Given the description of an element on the screen output the (x, y) to click on. 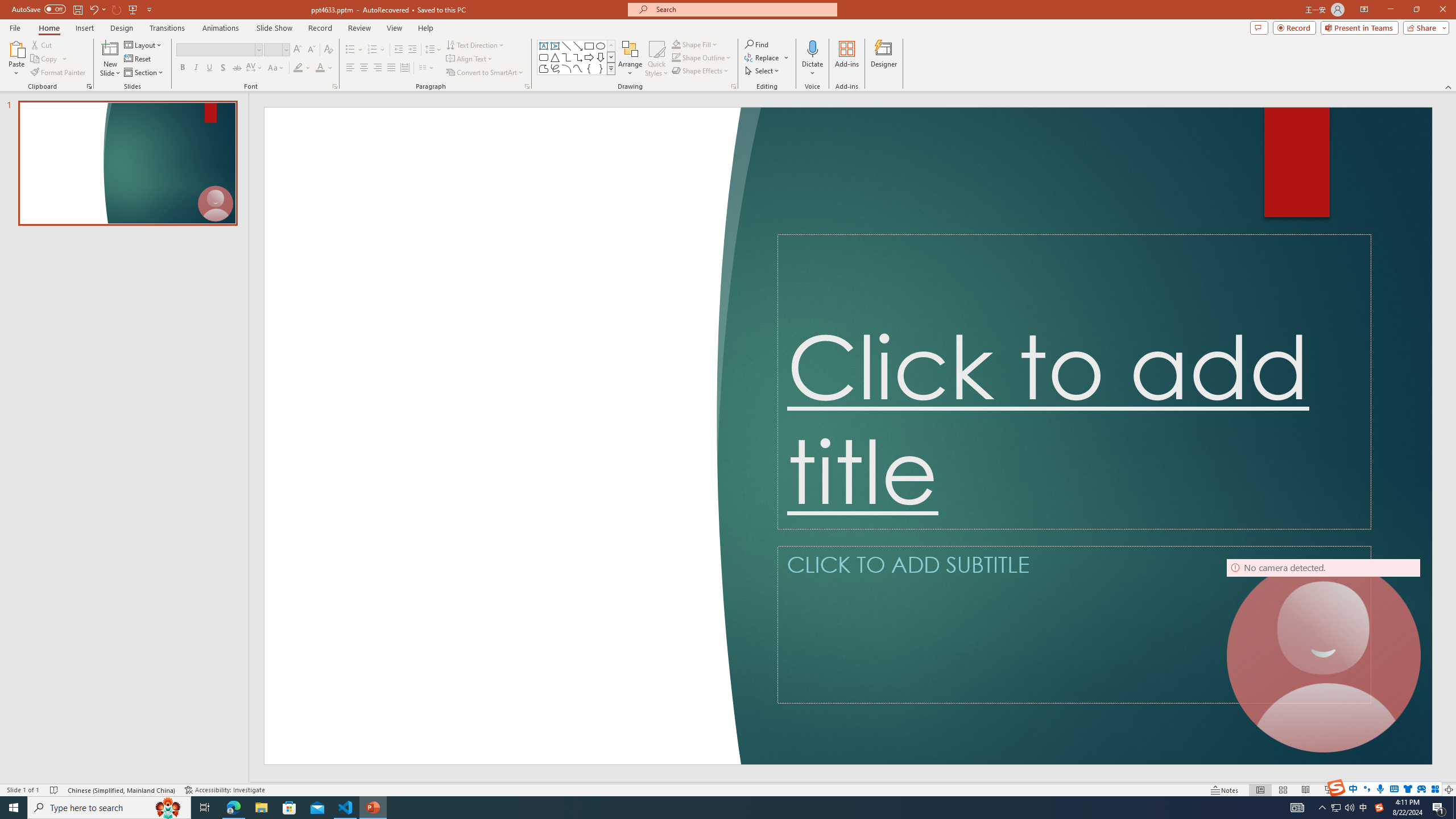
Zoom 161% (1430, 790)
